Given the description of an element on the screen output the (x, y) to click on. 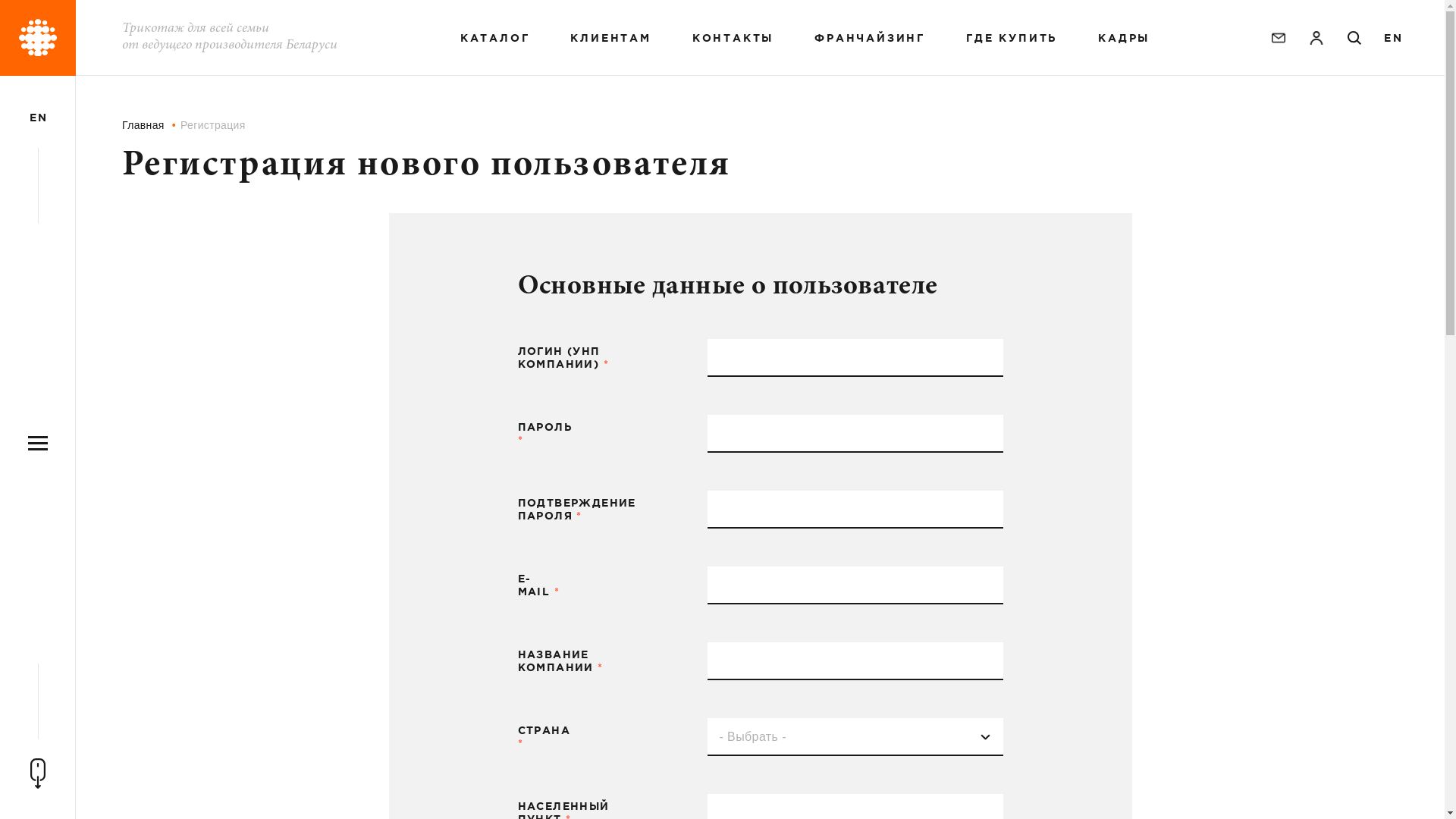
EN Element type: text (37, 117)
EN Element type: text (1392, 37)
